Given the description of an element on the screen output the (x, y) to click on. 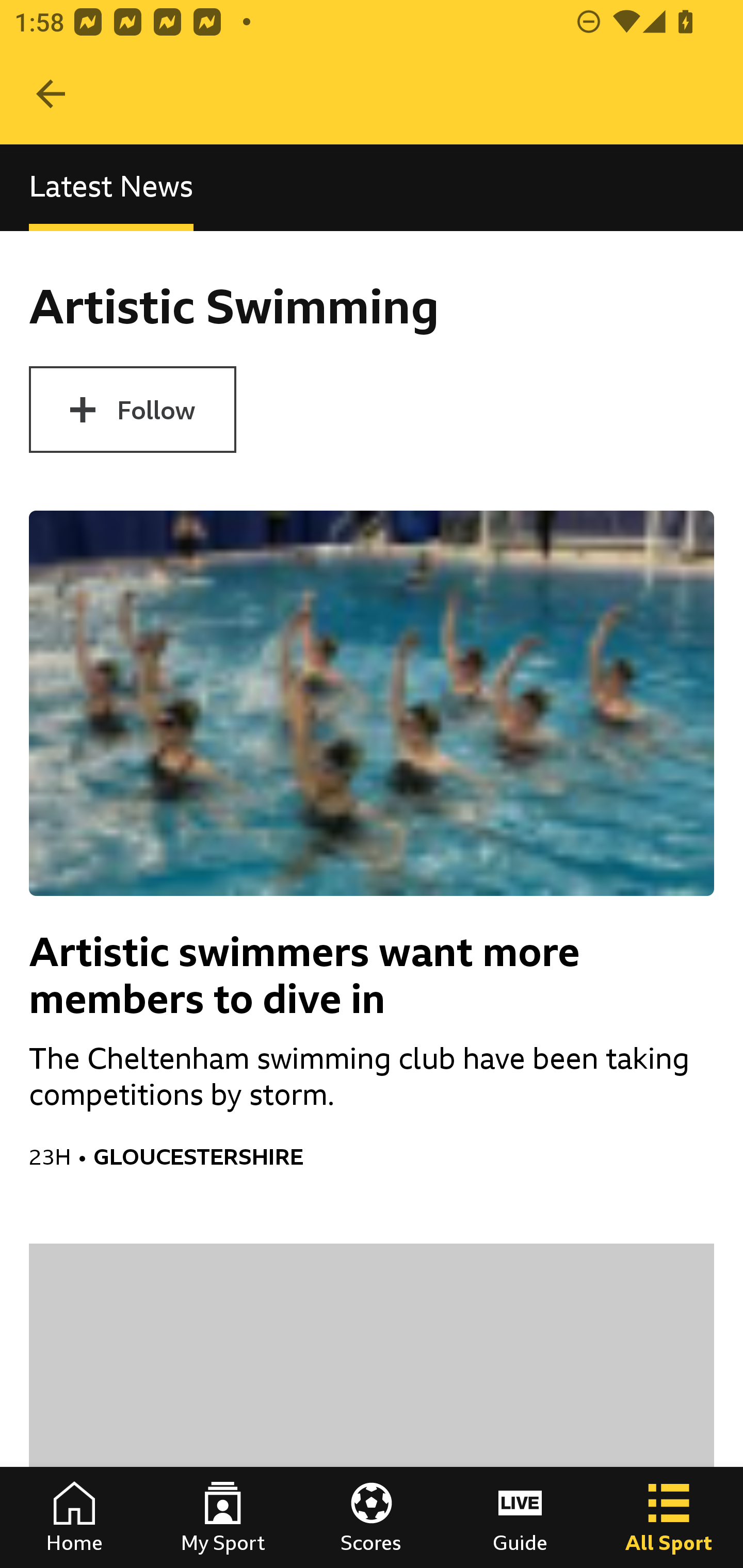
Navigate up (50, 93)
Latest News, selected Latest News (111, 187)
Follow Artistic Swimming Follow (132, 409)
GLOUCESTERSHIRE In the section Gloucestershire (403, 1156)
Home (74, 1517)
My Sport (222, 1517)
Scores (371, 1517)
Guide (519, 1517)
